Given the description of an element on the screen output the (x, y) to click on. 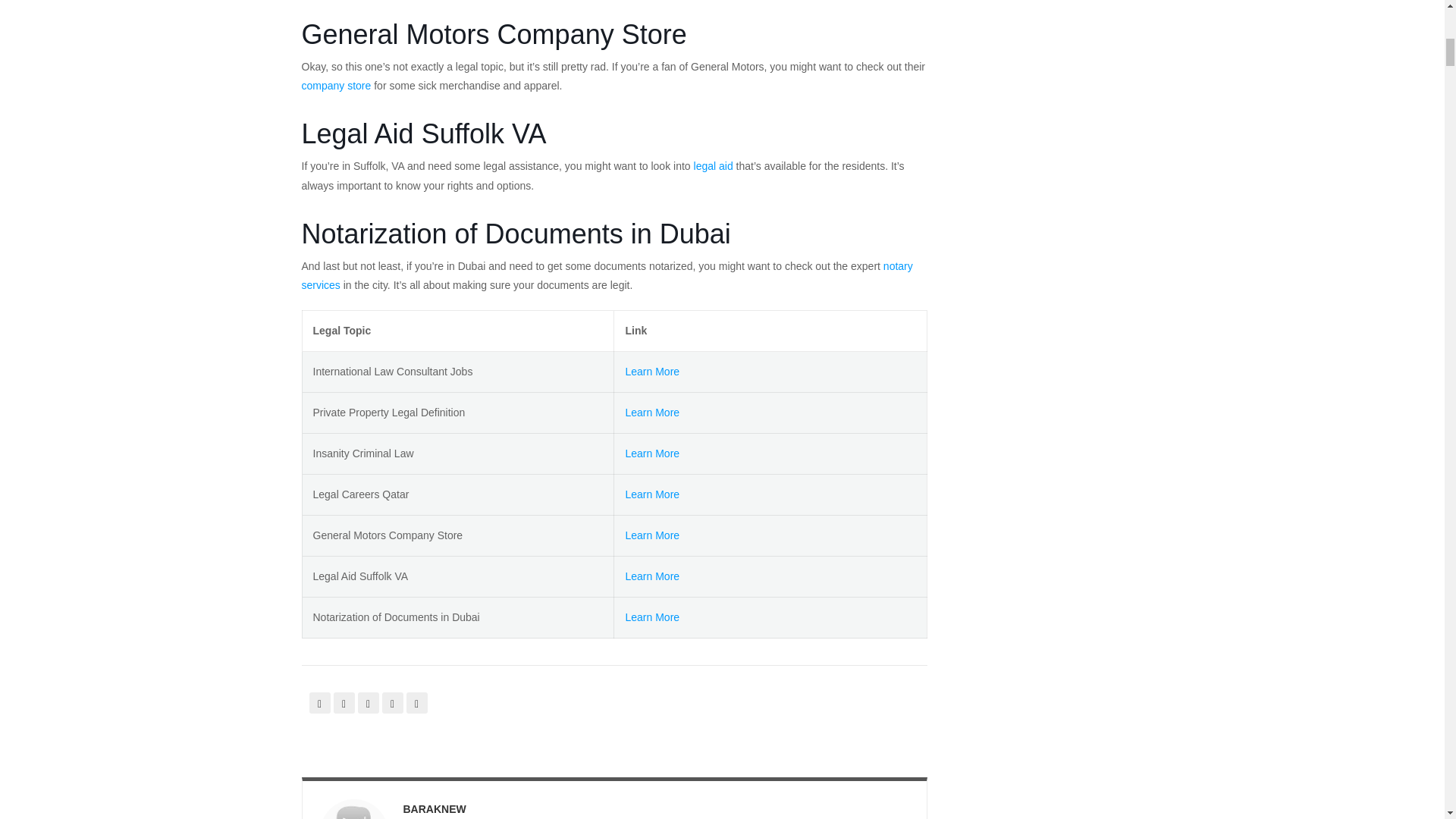
Posts by baraknew (434, 808)
Learn More (651, 412)
Learn More (651, 576)
legal aid (713, 165)
notary services (606, 275)
company store (336, 85)
Learn More (651, 371)
BARAKNEW (434, 808)
Learn More (651, 494)
Learn More (651, 453)
